Given the description of an element on the screen output the (x, y) to click on. 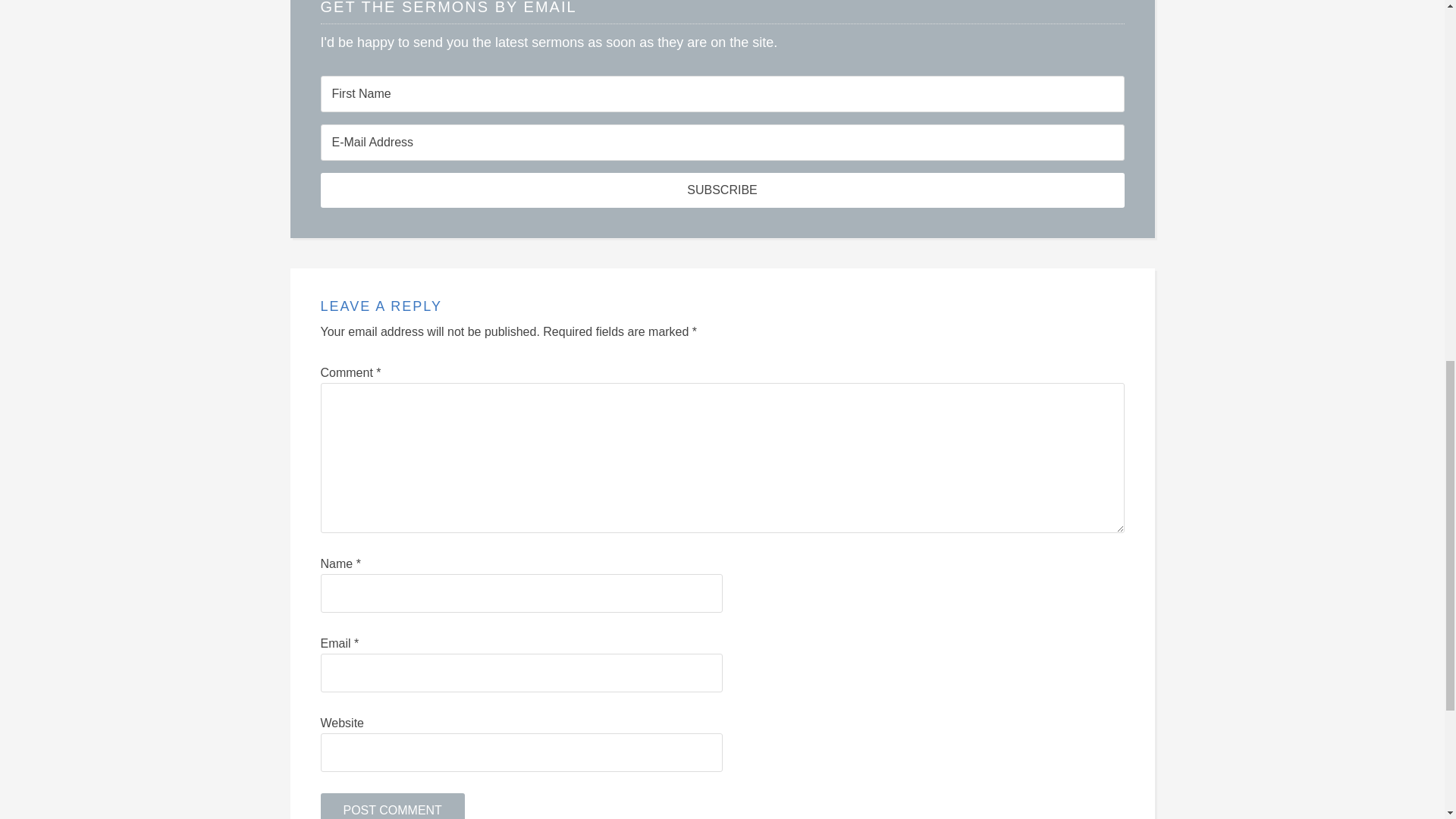
Post Comment (392, 806)
Post Comment (392, 806)
Subscribe (722, 190)
Subscribe (722, 190)
